Given the description of an element on the screen output the (x, y) to click on. 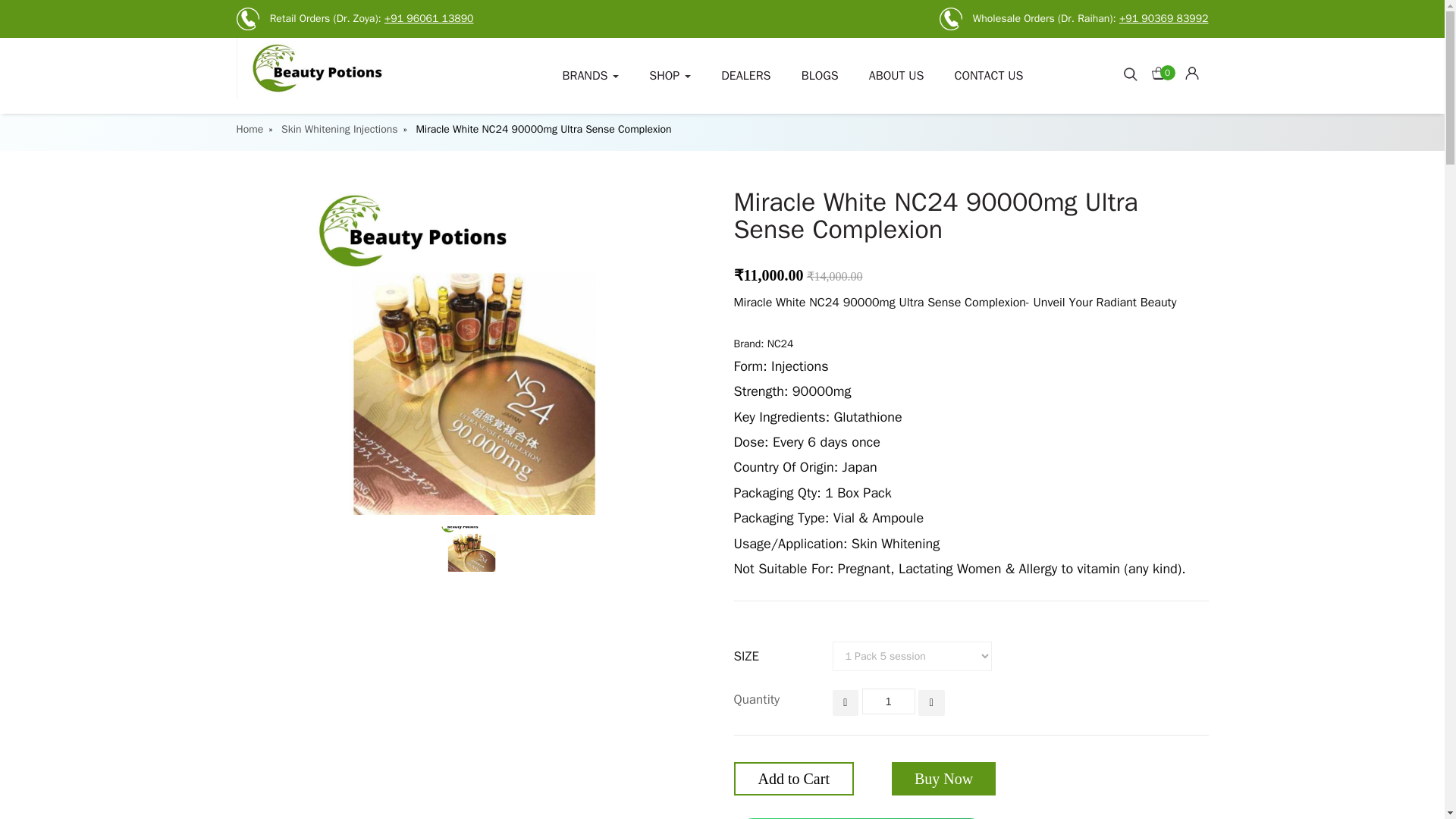
Search (1130, 73)
0 (1162, 70)
1 (888, 701)
Shopping Bag (1157, 72)
Beauty Potions - Logo (349, 67)
Shopping cart (1162, 70)
Shopping cart (1196, 70)
SHOP (669, 75)
BRANDS (590, 75)
user (1191, 72)
